Given the description of an element on the screen output the (x, y) to click on. 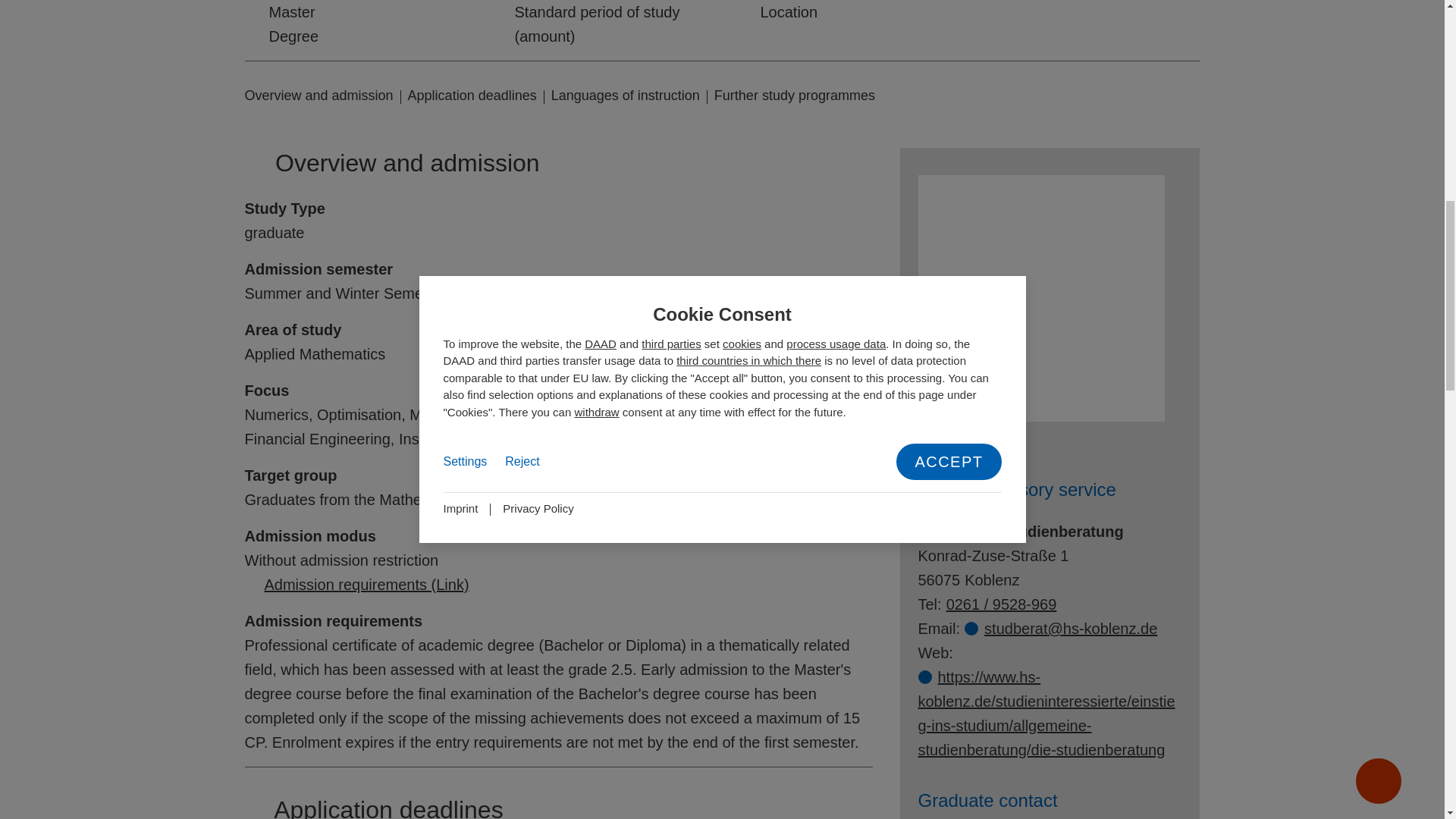
Application deadlines (472, 95)
Further study programmes (794, 95)
Page opens in new window (952, 440)
Page opens in new window (1045, 713)
Overview and admission (318, 95)
Page opens in new window (356, 584)
Languages of instruction (625, 95)
